Given the description of an element on the screen output the (x, y) to click on. 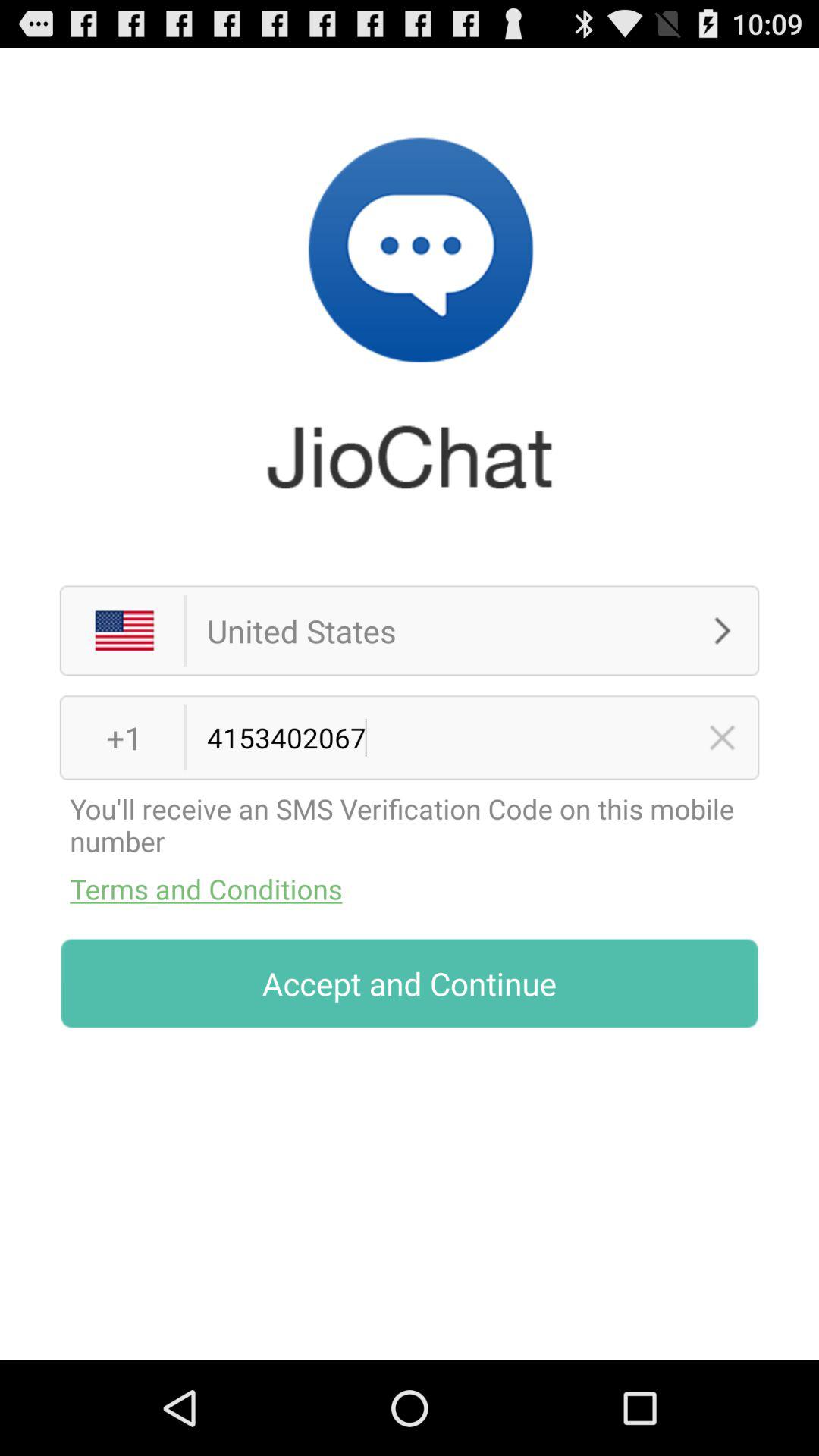
clear box entry (722, 737)
